Given the description of an element on the screen output the (x, y) to click on. 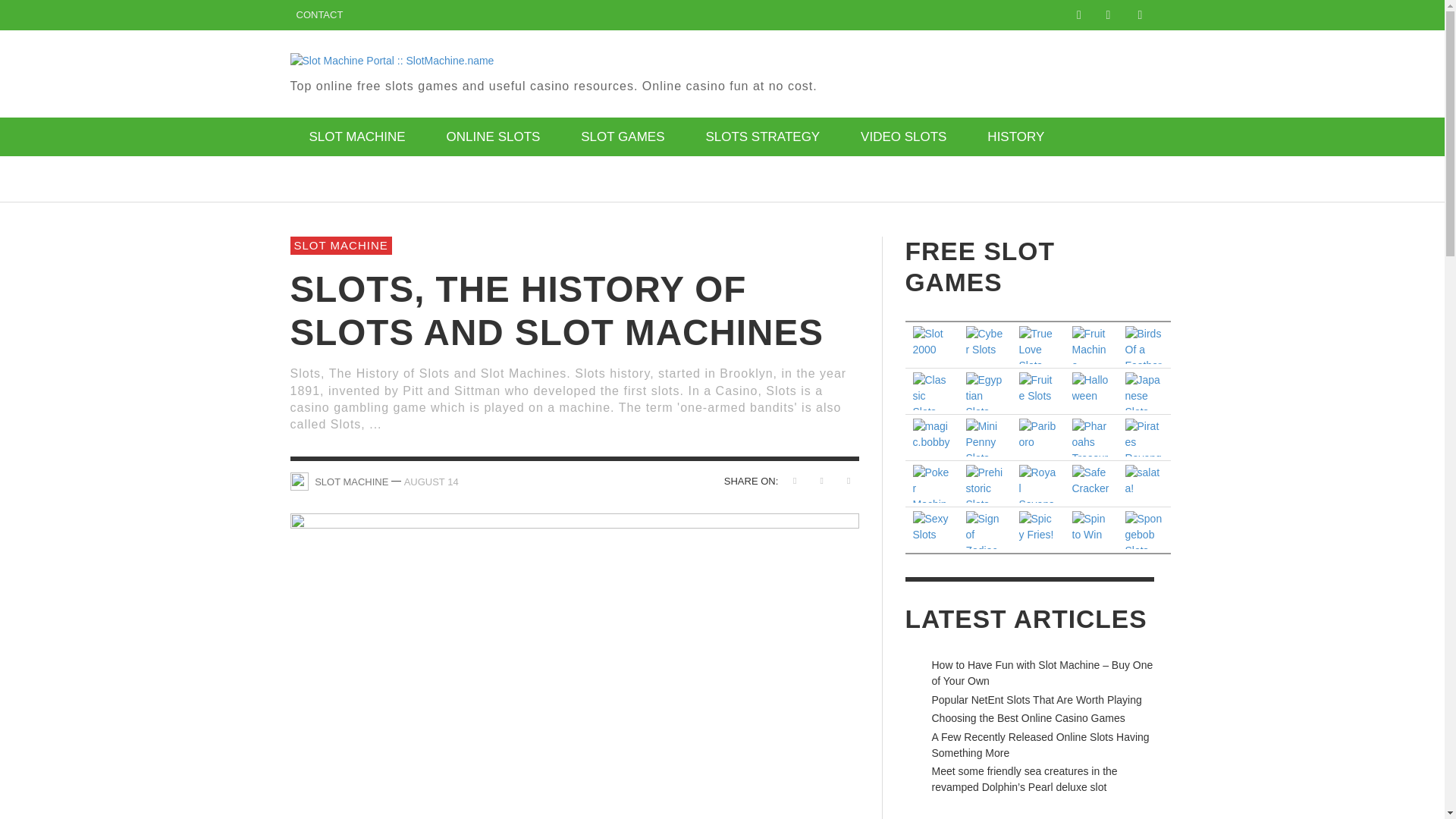
HISTORY (1015, 136)
ONLINE SLOTS (493, 136)
CONTACT (319, 15)
VIDEO SLOTS (903, 136)
SLOT GAMES (622, 136)
SLOTS STRATEGY (761, 136)
Facebook (1078, 15)
SLOT MACHINE (356, 136)
Twitter (1107, 15)
